Given the description of an element on the screen output the (x, y) to click on. 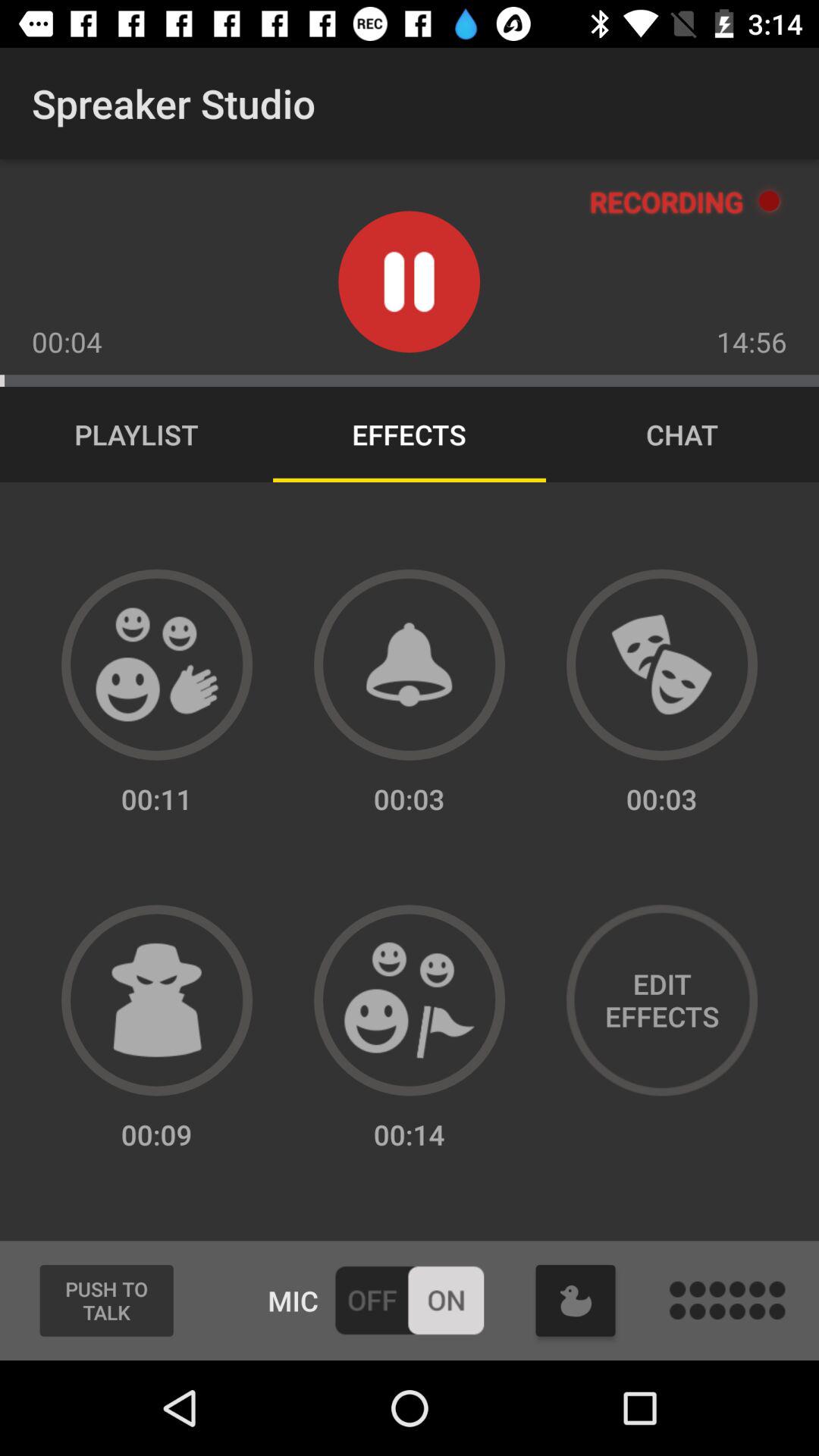
ring bells (409, 664)
